Given the description of an element on the screen output the (x, y) to click on. 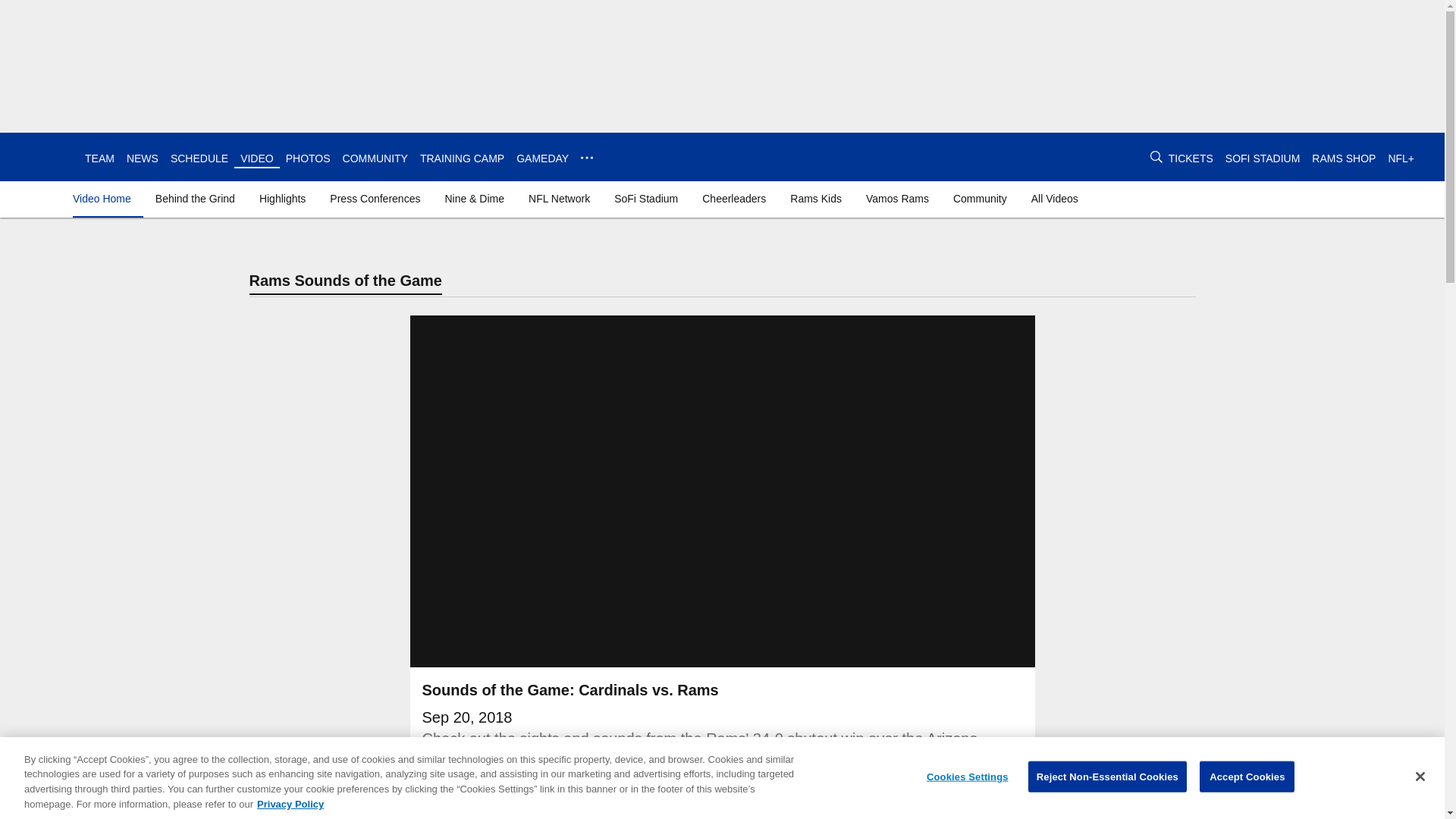
SOFI STADIUM (1262, 158)
Vamos Rams (897, 198)
TEAM (99, 158)
Press Conferences (374, 198)
... (586, 157)
TICKETS (1190, 158)
RAMS SHOP (1343, 158)
NFL Network (558, 198)
Community (980, 198)
SCHEDULE (199, 158)
TRAINING CAMP (461, 158)
Cheerleaders (733, 198)
SOFI STADIUM (1262, 158)
COMMUNITY (374, 158)
All Videos (1054, 198)
